Given the description of an element on the screen output the (x, y) to click on. 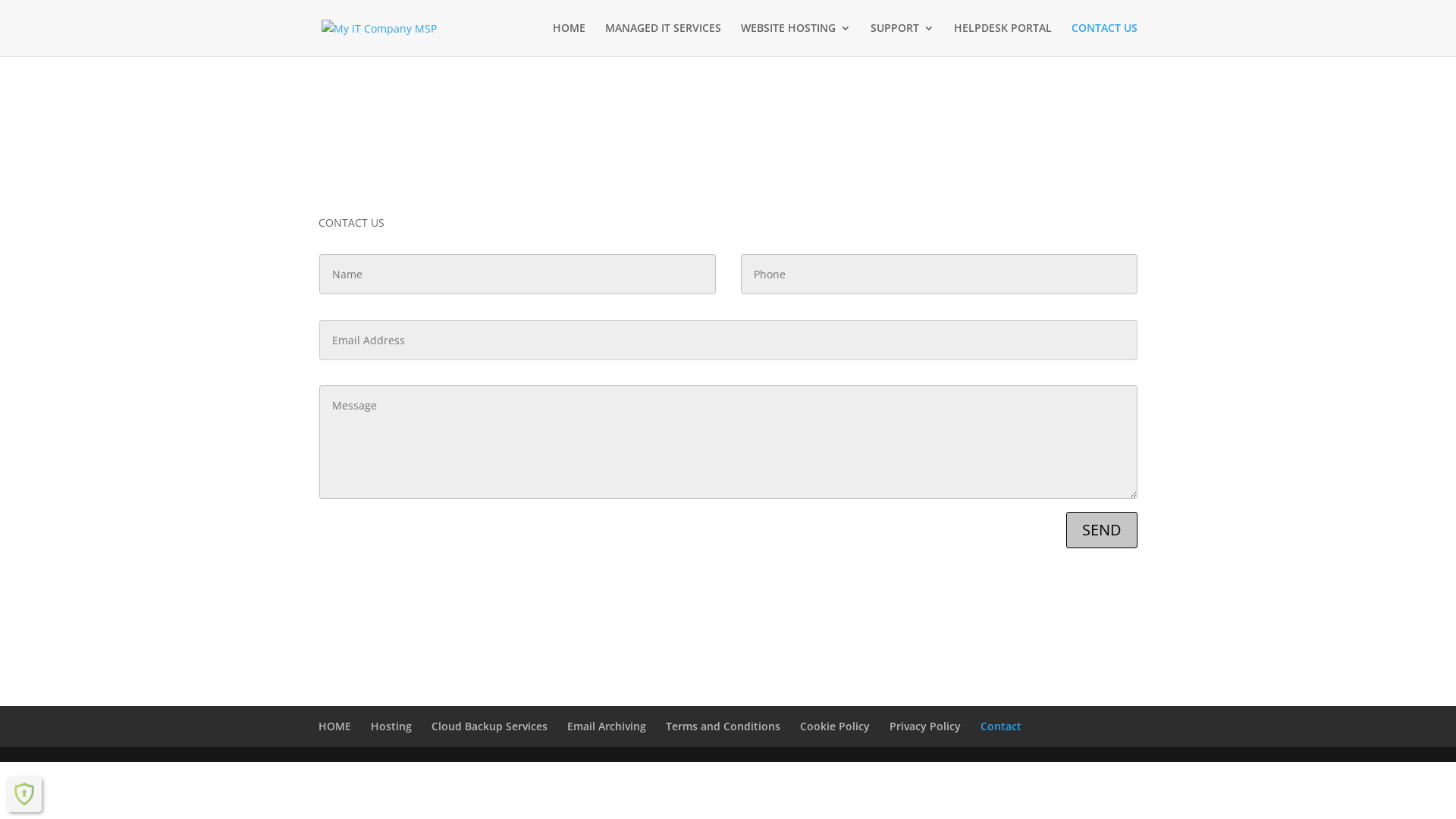
Only numbers allowed. Element type: hover (938, 274)
Terms and Conditions Element type: text (722, 725)
CONTACT US Element type: text (1104, 39)
HOME Element type: text (568, 39)
Email Archiving Element type: text (606, 725)
WEBSITE HOSTING Element type: text (795, 39)
SUPPORT Element type: text (902, 39)
MANAGED IT SERVICES Element type: text (663, 39)
Hosting Element type: text (390, 725)
Privacy Policy Element type: text (924, 725)
Cookie Policy Element type: text (834, 725)
SEND Element type: text (1101, 529)
Contact Element type: text (1000, 725)
Cloud Backup Services Element type: text (489, 725)
HOME Element type: text (334, 725)
HELPDESK PORTAL Element type: text (1002, 39)
My IT Security Shield Element type: hover (24, 793)
